Given the description of an element on the screen output the (x, y) to click on. 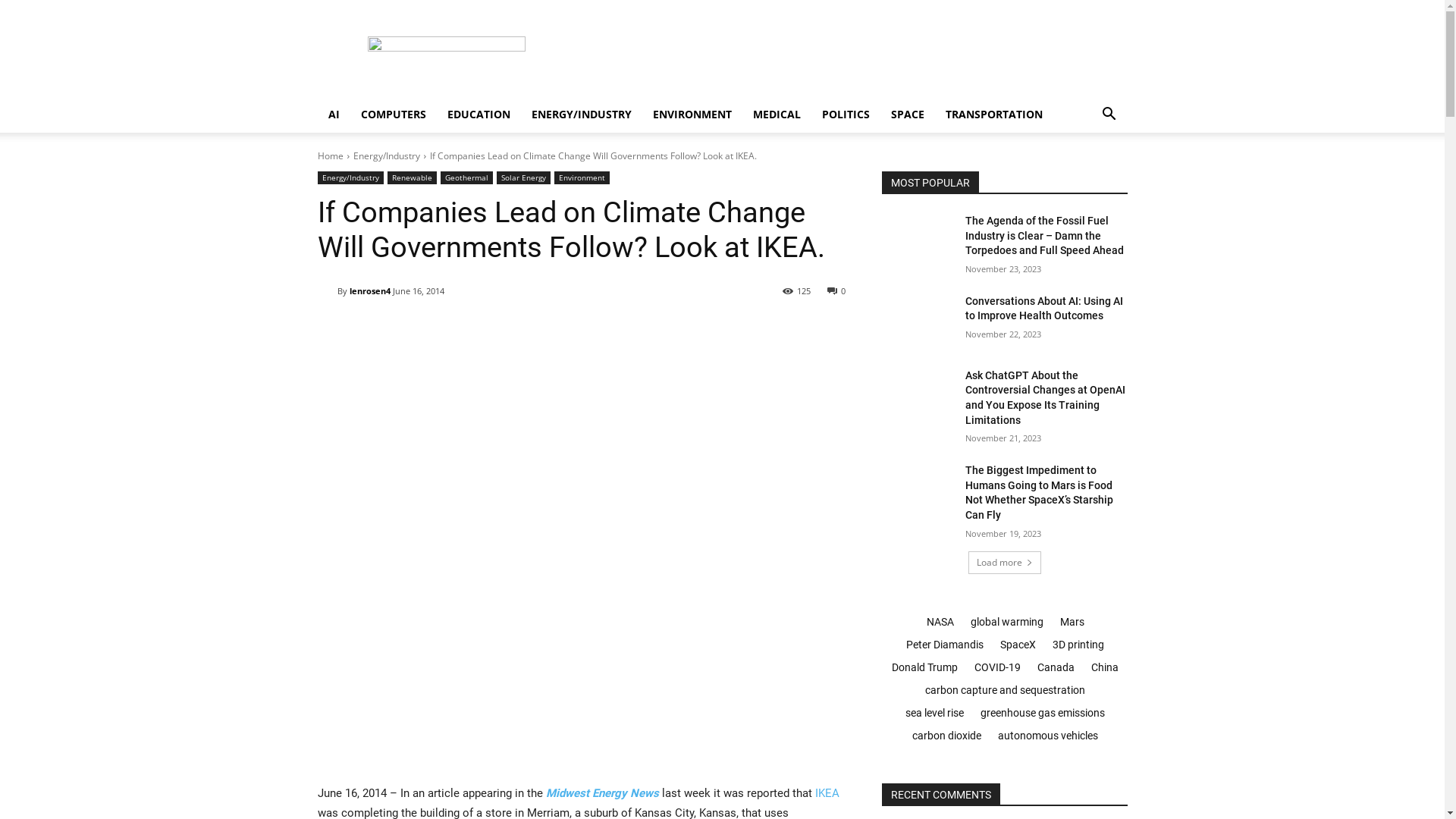
AI Element type: text (332, 114)
POLITICS Element type: text (845, 114)
greenhouse gas emissions Element type: text (1041, 712)
China Element type: text (1104, 666)
ENERGY/INDUSTRY Element type: text (580, 114)
MEDICAL Element type: text (775, 114)
sea level rise Element type: text (933, 712)
carbon dioxide Element type: text (945, 735)
global warming Element type: text (1006, 621)
Energy/Industry Element type: text (349, 177)
Midwest Energy News Element type: text (602, 793)
ENVIRONMENT Element type: text (691, 114)
Solar Energy Element type: text (522, 177)
SPACE Element type: text (906, 114)
Peter Diamandis Element type: text (944, 644)
NASA Element type: text (939, 621)
Energy/Industry Element type: text (386, 155)
Canada Element type: text (1055, 666)
Home Element type: text (329, 155)
IKEA Element type: text (826, 793)
carbon capture and sequestration Element type: text (1004, 689)
Mars Element type: text (1071, 621)
Conversations About AI: Using AI to Improve Health Outcomes Element type: text (1044, 308)
Load more Element type: text (1003, 562)
TRANSPORTATION Element type: text (993, 114)
Environment Element type: text (580, 177)
COVID-19 Element type: text (996, 666)
Geothermal Element type: text (465, 177)
lenrosen4 Element type: text (368, 290)
3D printing Element type: text (1077, 644)
Conversations About AI: Using AI to Improve Health Outcomes Element type: hover (917, 319)
EDUCATION Element type: text (478, 114)
Renewable Element type: text (411, 177)
SpaceX Element type: text (1017, 644)
0 Element type: text (835, 289)
Search Element type: text (1085, 175)
autonomous vehicles Element type: text (1046, 735)
COMPUTERS Element type: text (393, 114)
Donald Trump Element type: text (923, 666)
lenrosen4 Element type: hover (326, 290)
